Given the description of an element on the screen output the (x, y) to click on. 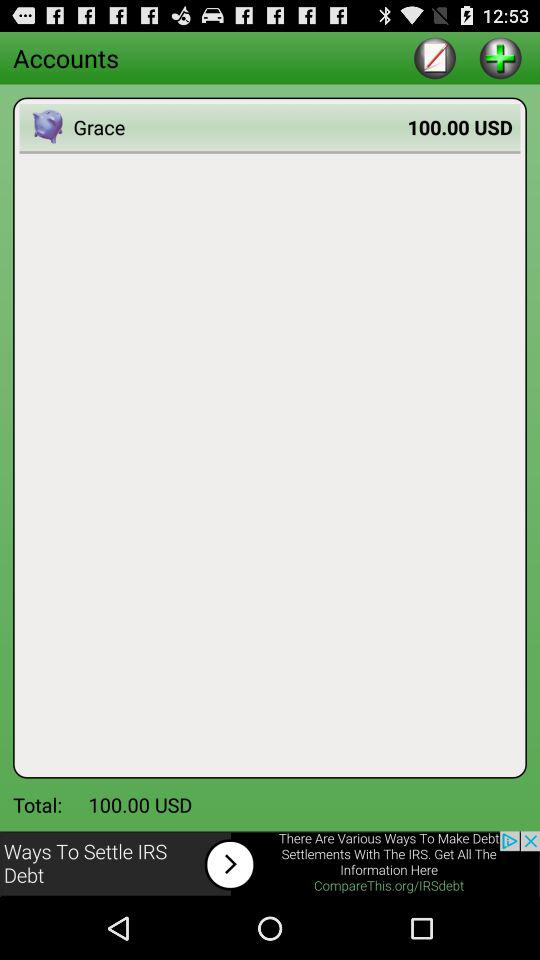
add button (500, 57)
